Given the description of an element on the screen output the (x, y) to click on. 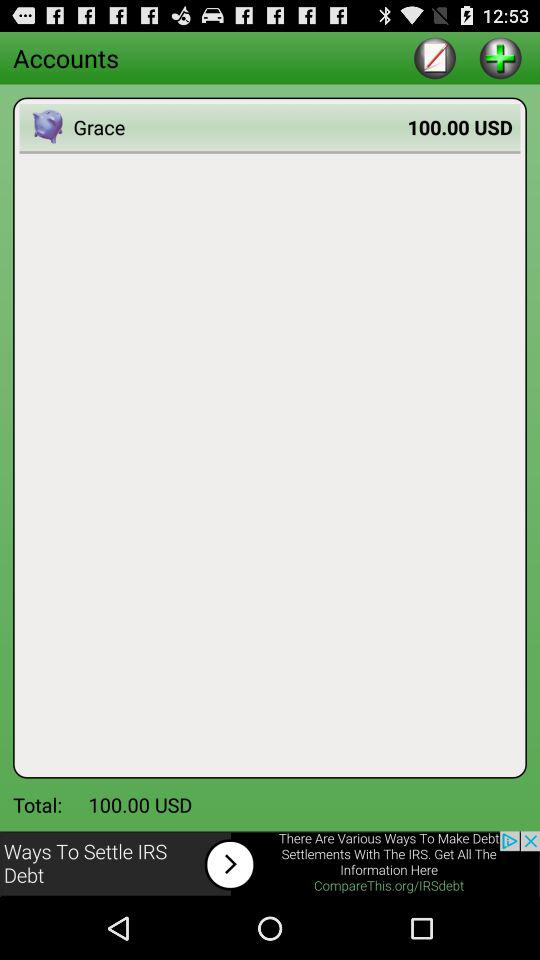
add button (500, 57)
